Given the description of an element on the screen output the (x, y) to click on. 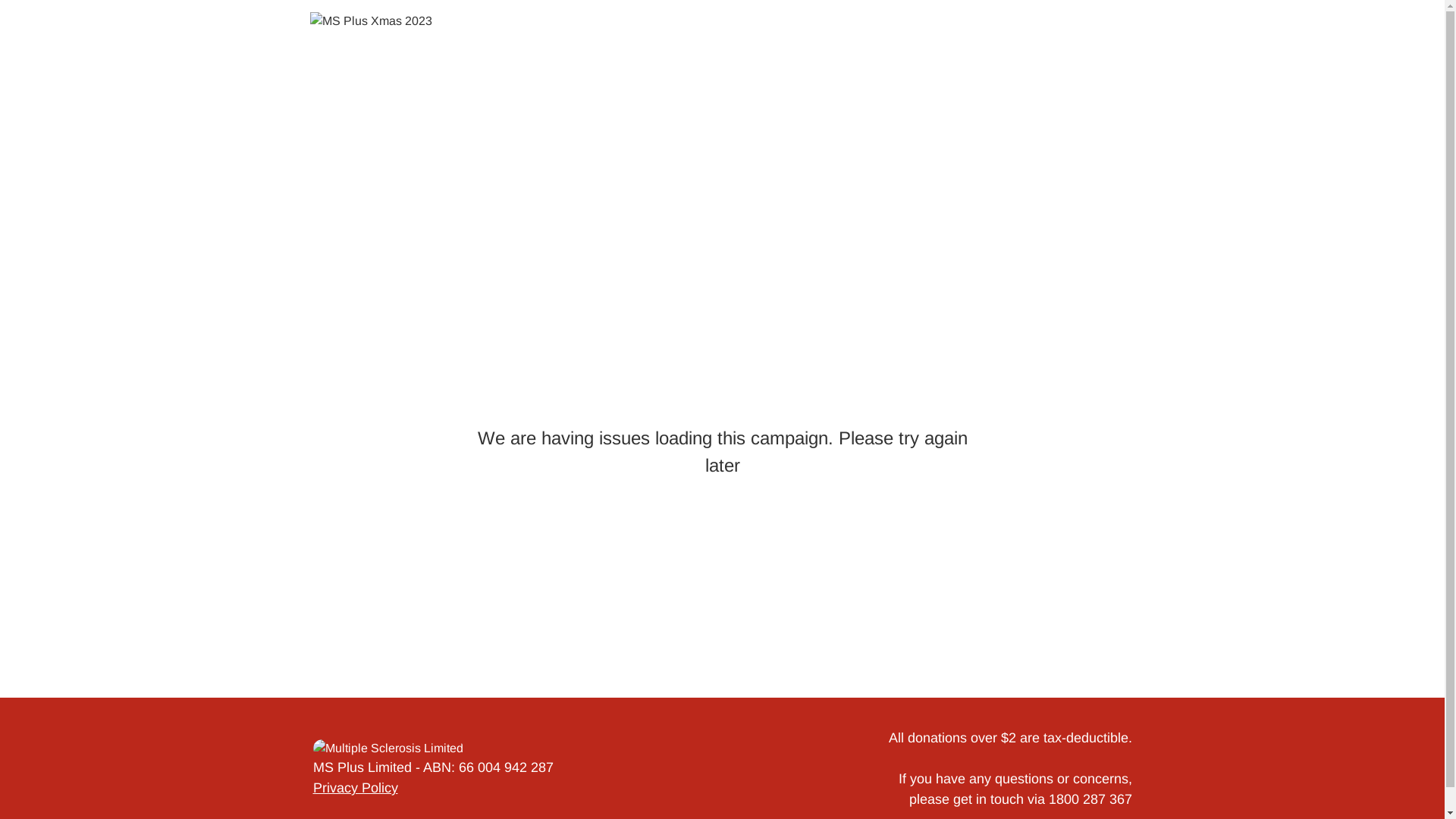
Privacy Policy Element type: text (354, 787)
